Given the description of an element on the screen output the (x, y) to click on. 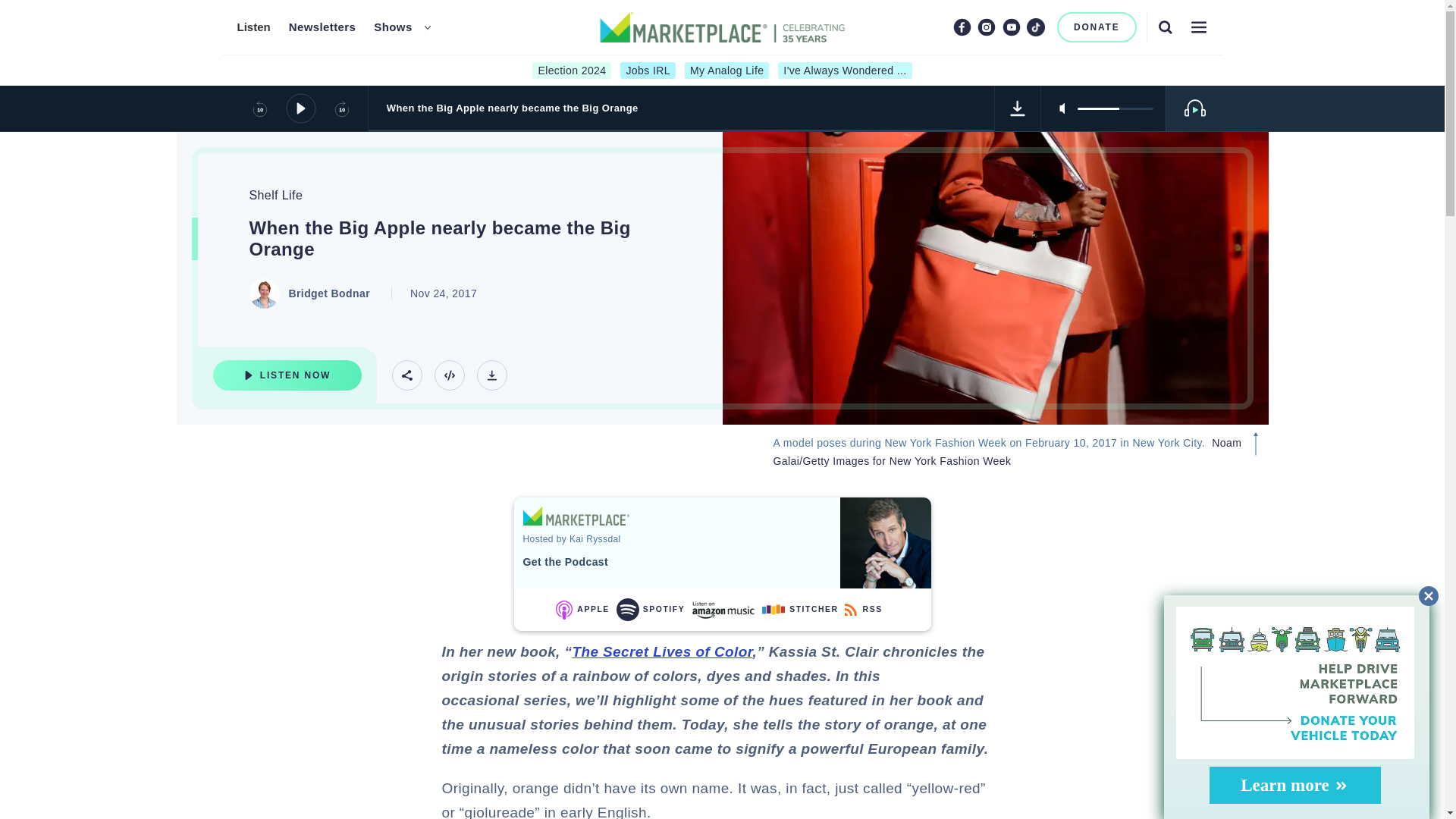
5 (1115, 108)
TikTok (1035, 27)
Download Track (1017, 108)
Menu (1198, 27)
Search (1164, 27)
volume (1115, 108)
Facebook (962, 27)
Shows (393, 26)
Listen (252, 26)
Newsletters (322, 27)
Instagram (985, 27)
Download Track (491, 374)
DONATE (1097, 27)
Listen Now (286, 374)
